Given the description of an element on the screen output the (x, y) to click on. 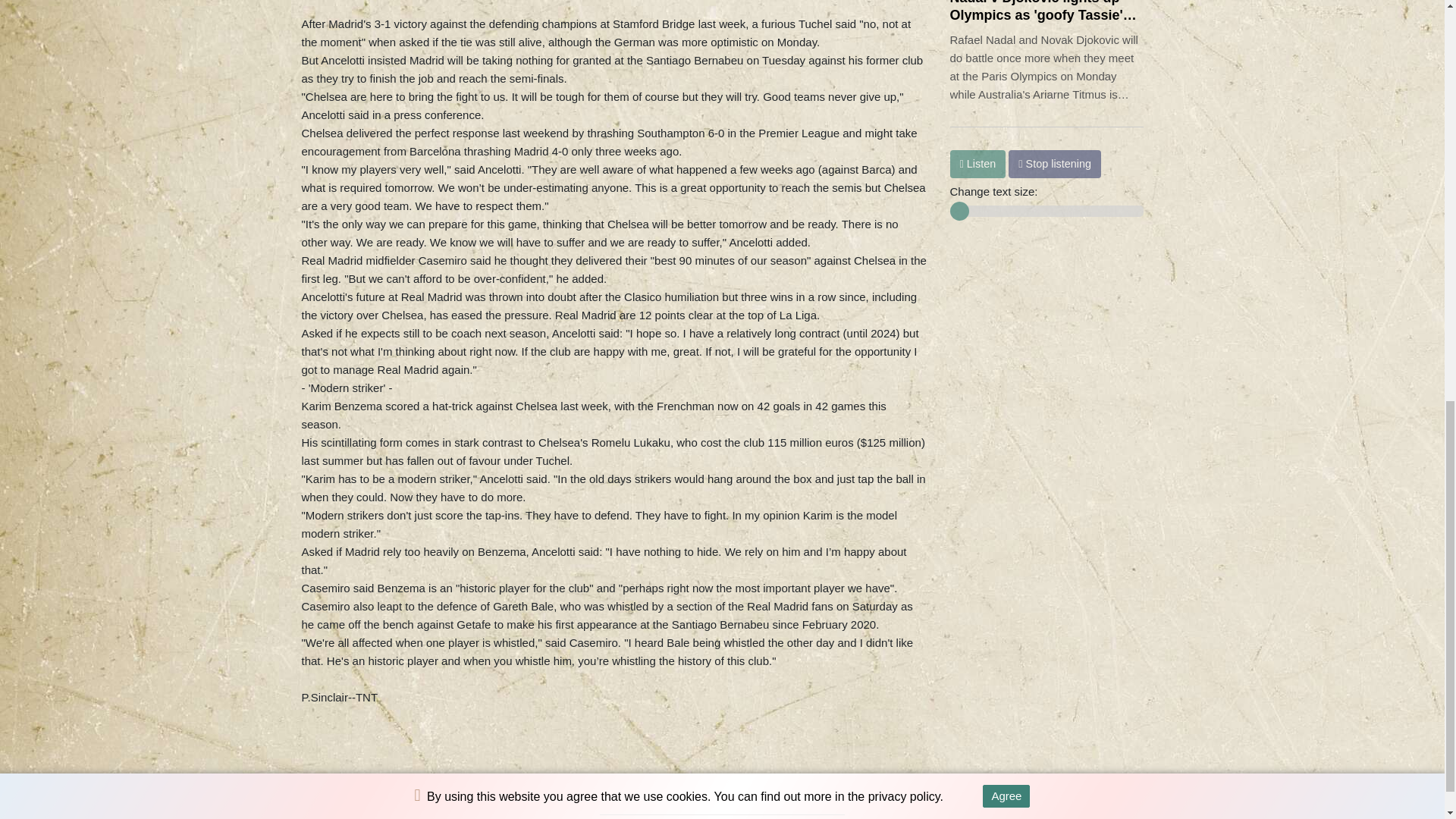
15 (1045, 211)
